Given the description of an element on the screen output the (x, y) to click on. 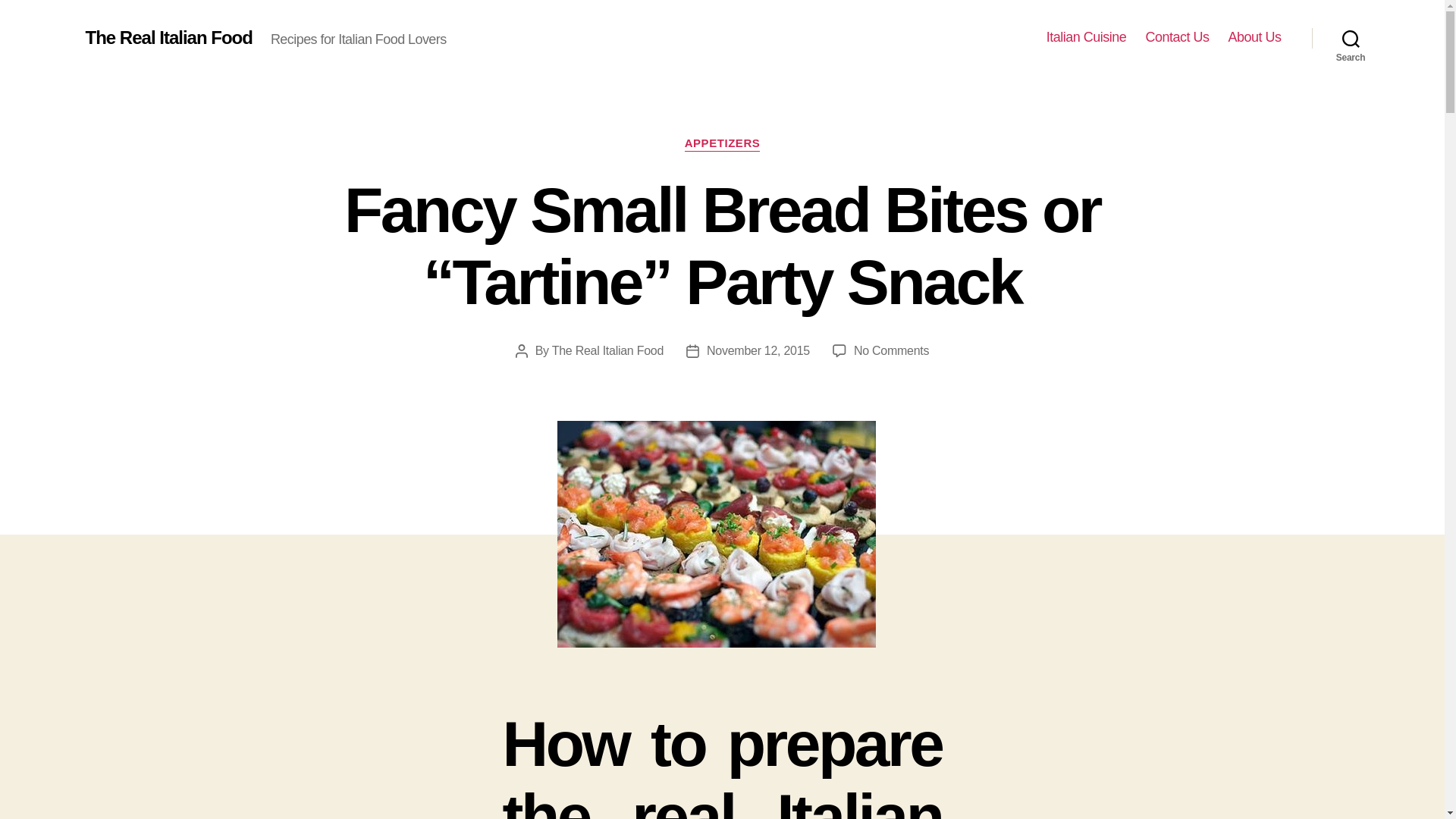
The Real Italian Food (607, 350)
About Us (1254, 37)
The Real Italian Food (167, 37)
Authentic Italian Foodies (1254, 37)
Best of Italy Food (1086, 37)
Search (1350, 37)
Italian Cuisine (1086, 37)
November 12, 2015 (757, 350)
APPETIZERS (722, 143)
Contact Us (1176, 37)
